Given the description of an element on the screen output the (x, y) to click on. 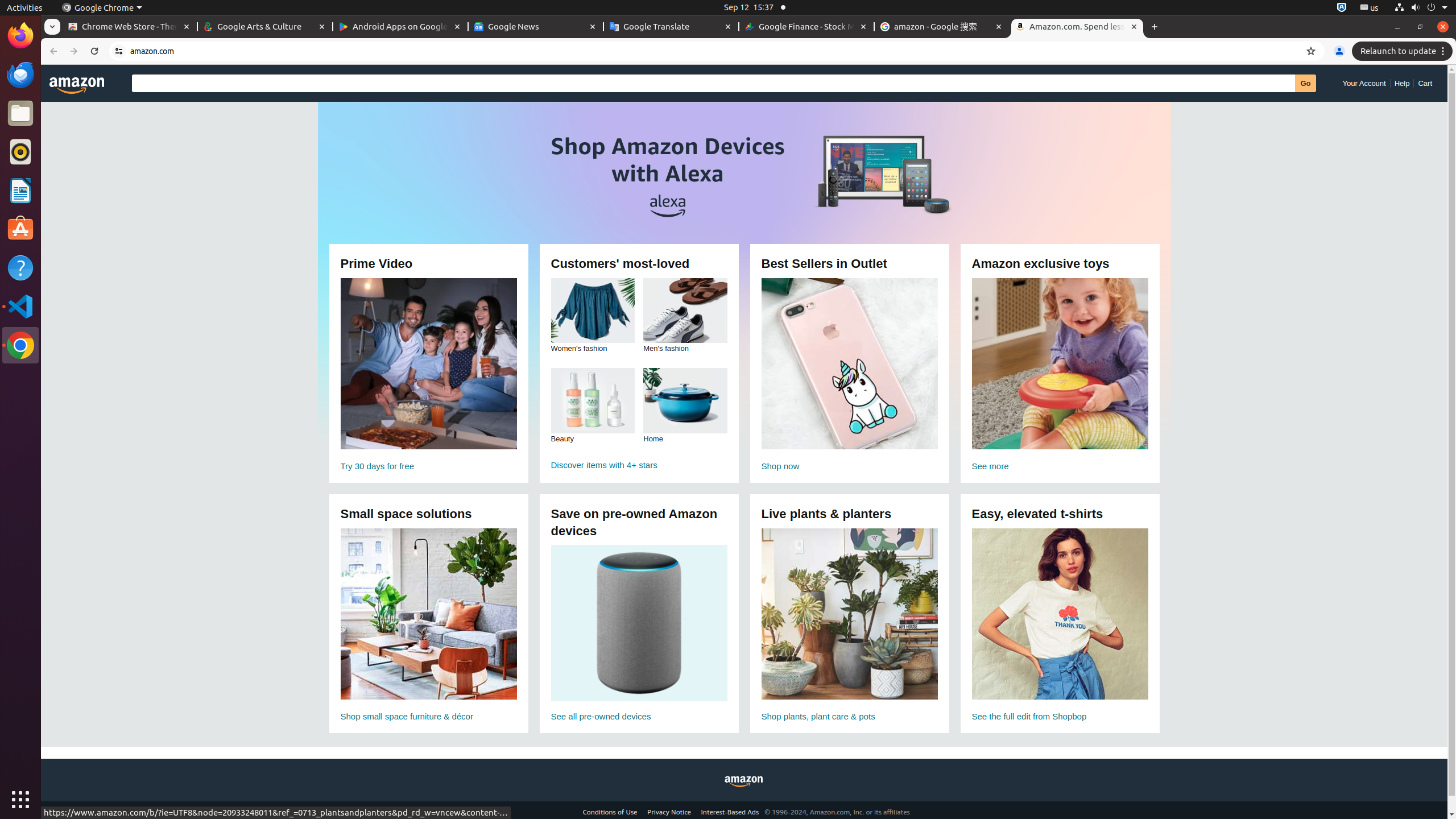
Files Element type: push-button (20, 113)
View site information Element type: push-button (118, 51)
LibreOffice Writer Element type: push-button (20, 190)
You Element type: push-button (1339, 50)
Conditions of Use Element type: link (609, 811)
